Given the description of an element on the screen output the (x, y) to click on. 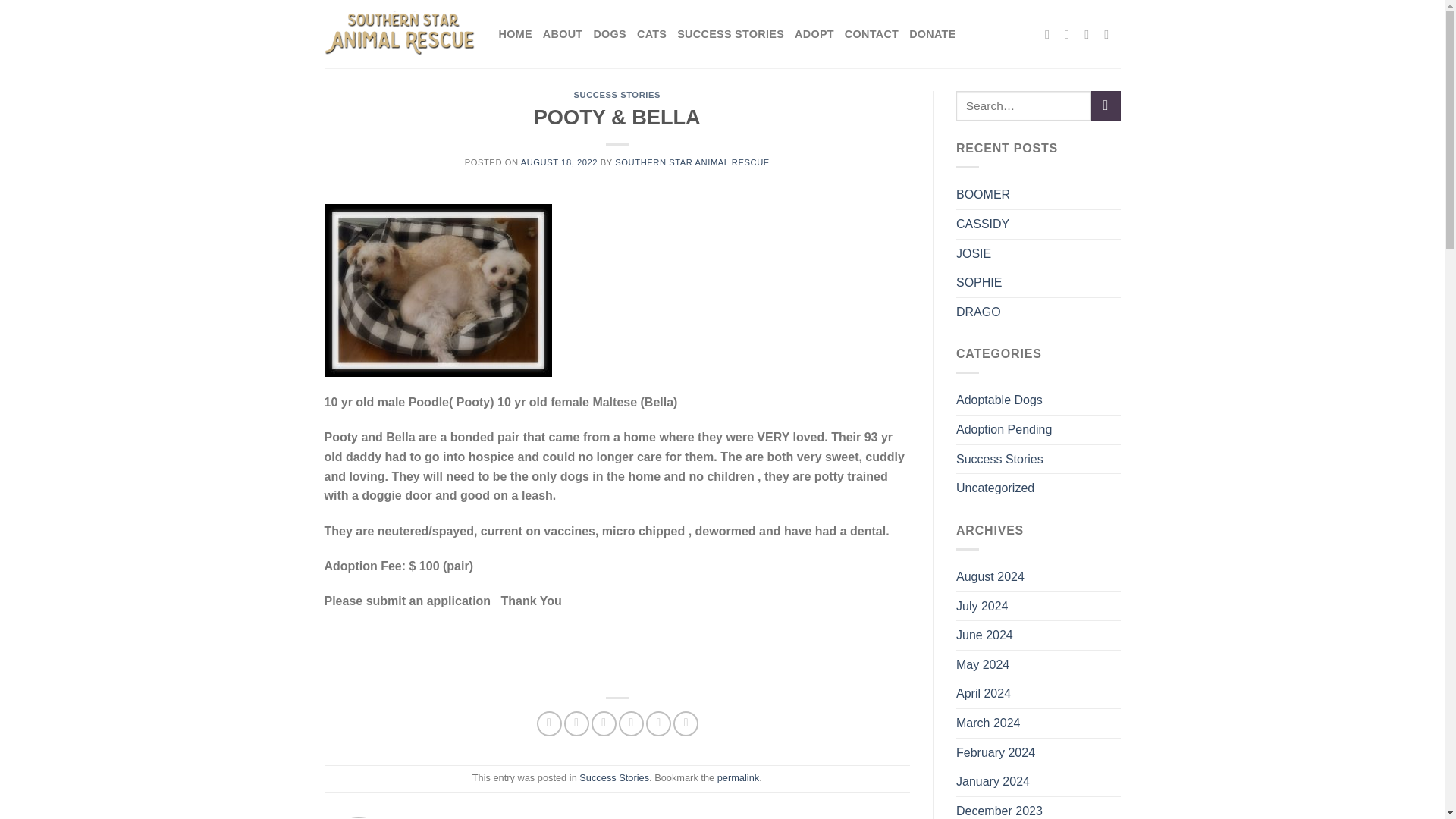
Adoption Pending (1003, 429)
DOGS (609, 33)
SUCCESS STORIES (617, 94)
ABOUT (563, 33)
HOME (515, 33)
permalink (737, 777)
Southern Star Animal Rescue (400, 33)
SUCCESS STORIES (730, 33)
DRAGO (978, 312)
Success Stories (614, 777)
